Given the description of an element on the screen output the (x, y) to click on. 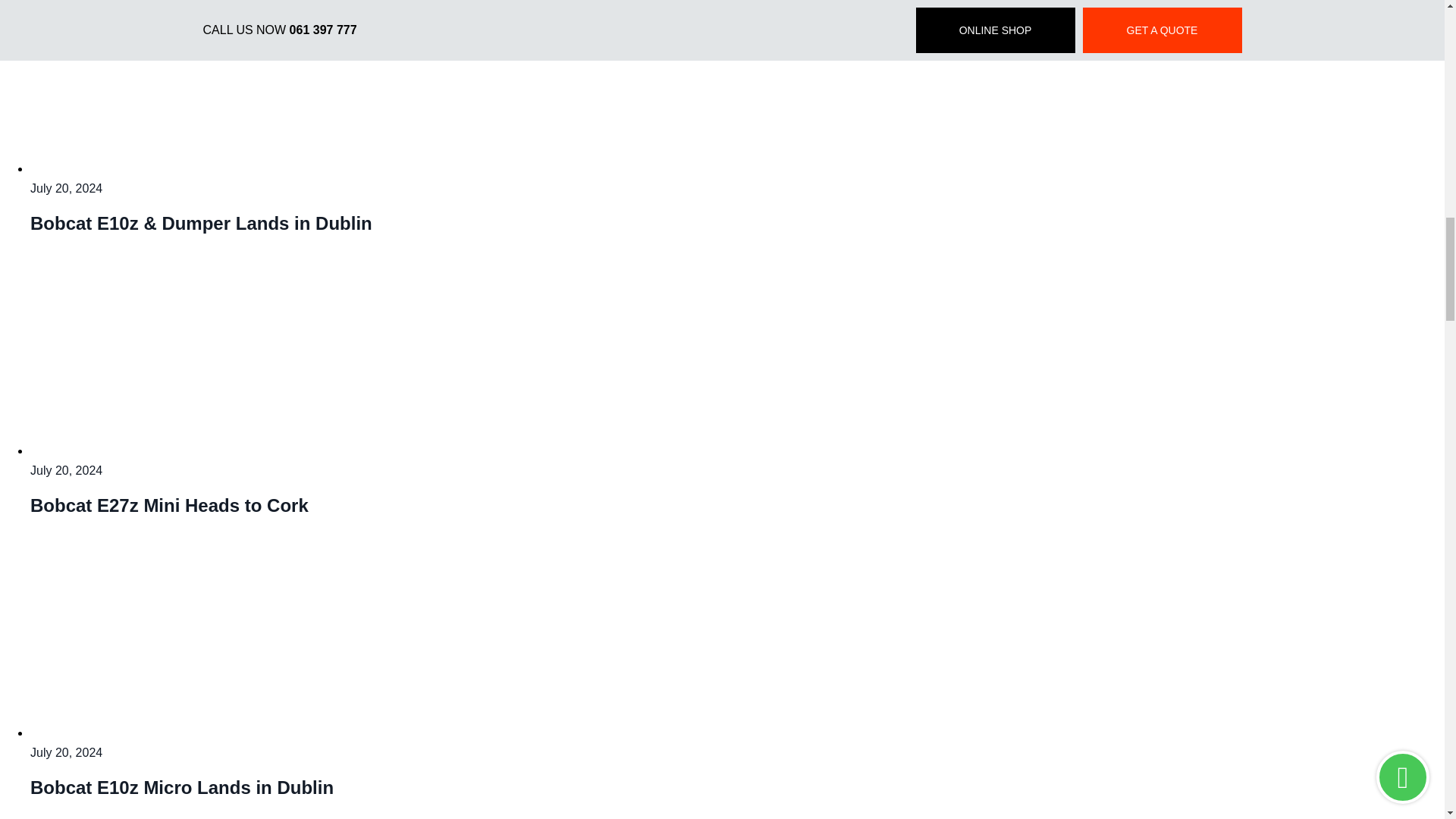
Bobcat E27z Mini Heads to Cork (219, 450)
Bobcat E10z Micro Lands in Dublin (219, 732)
